Given the description of an element on the screen output the (x, y) to click on. 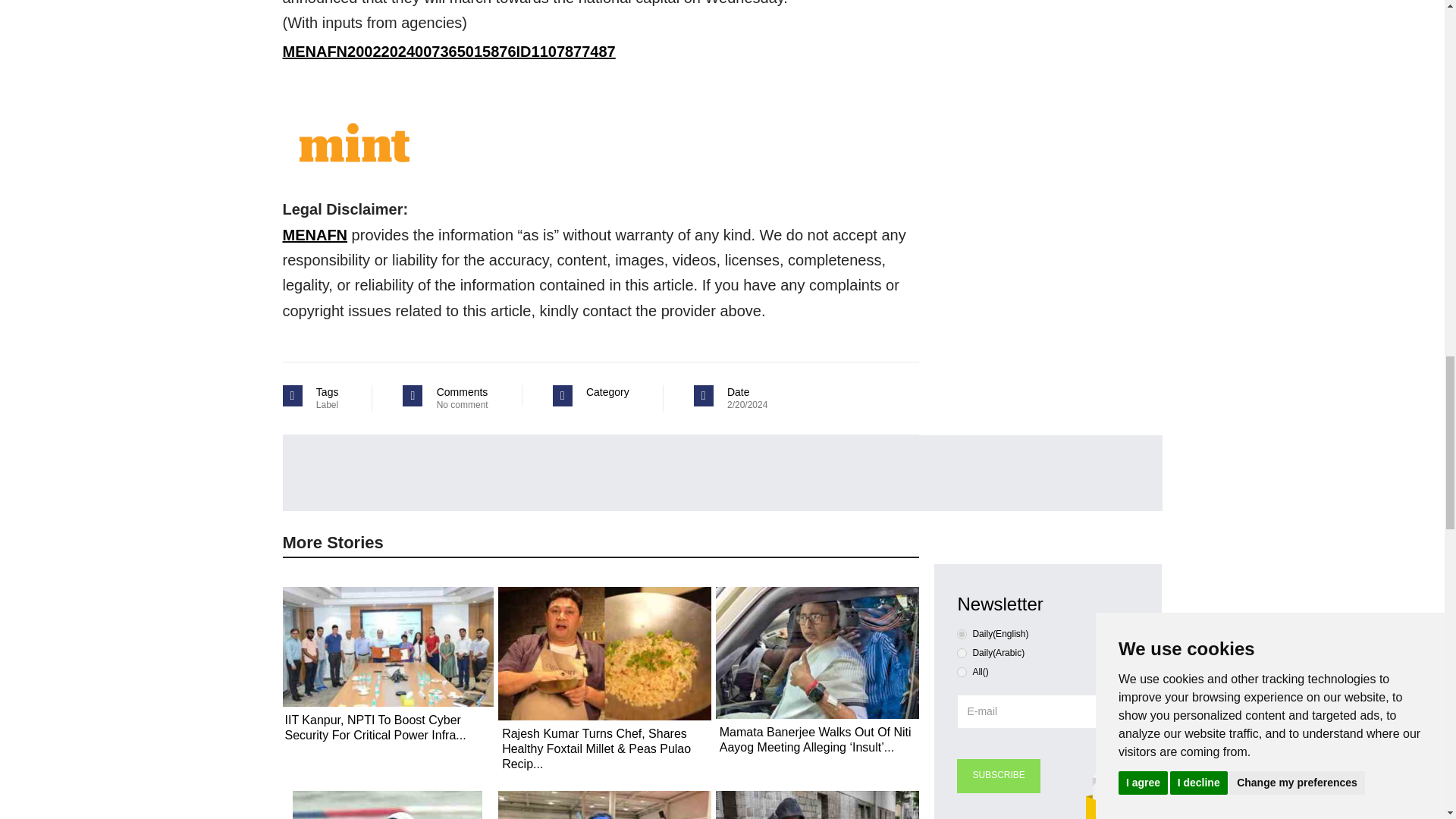
1 (961, 653)
0 (961, 634)
2 (961, 672)
Subscribe (997, 776)
